Given the description of an element on the screen output the (x, y) to click on. 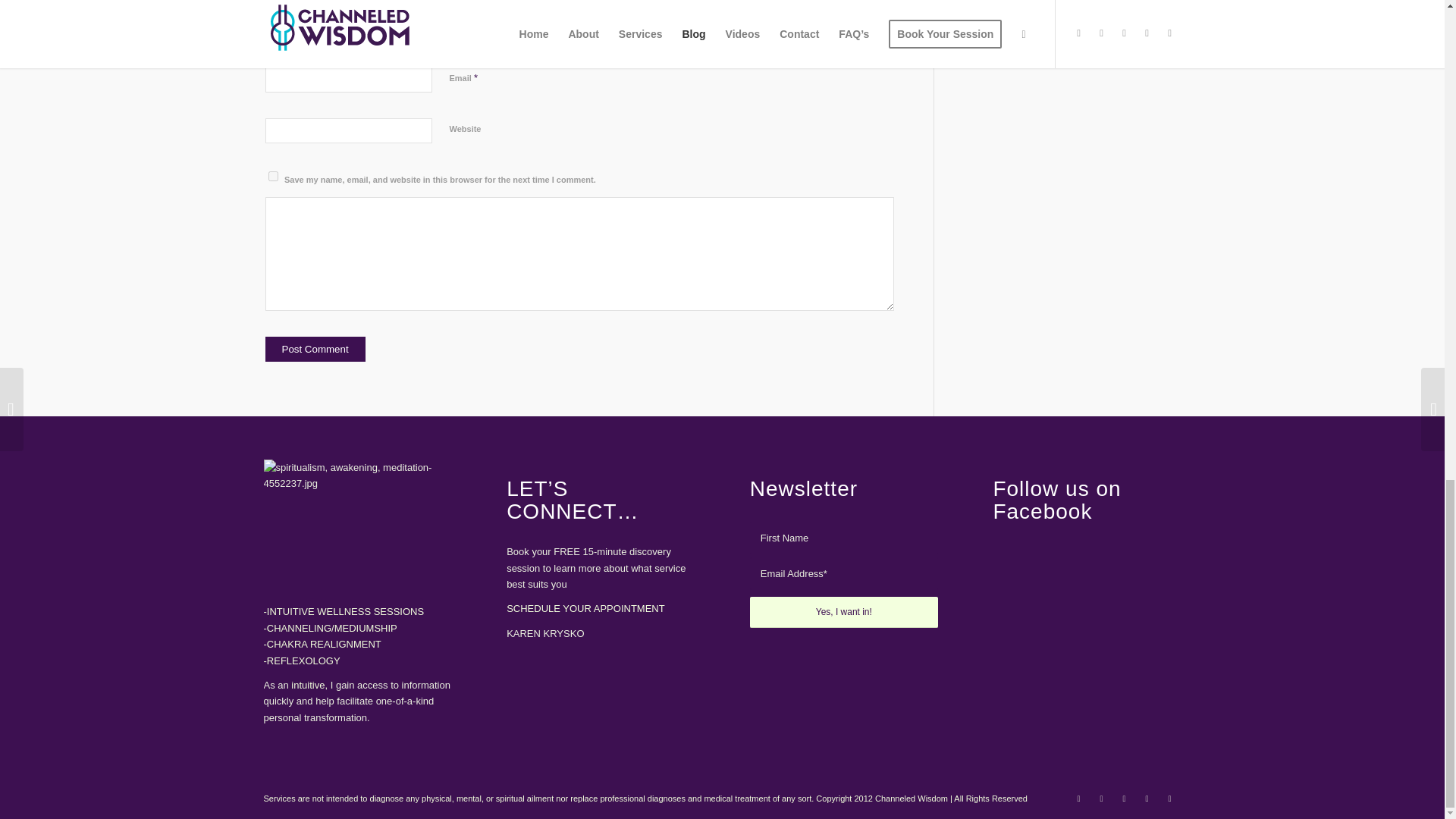
Yes, I want in! (843, 612)
Post Comment (314, 348)
yes (272, 175)
Post Comment (314, 348)
